Given the description of an element on the screen output the (x, y) to click on. 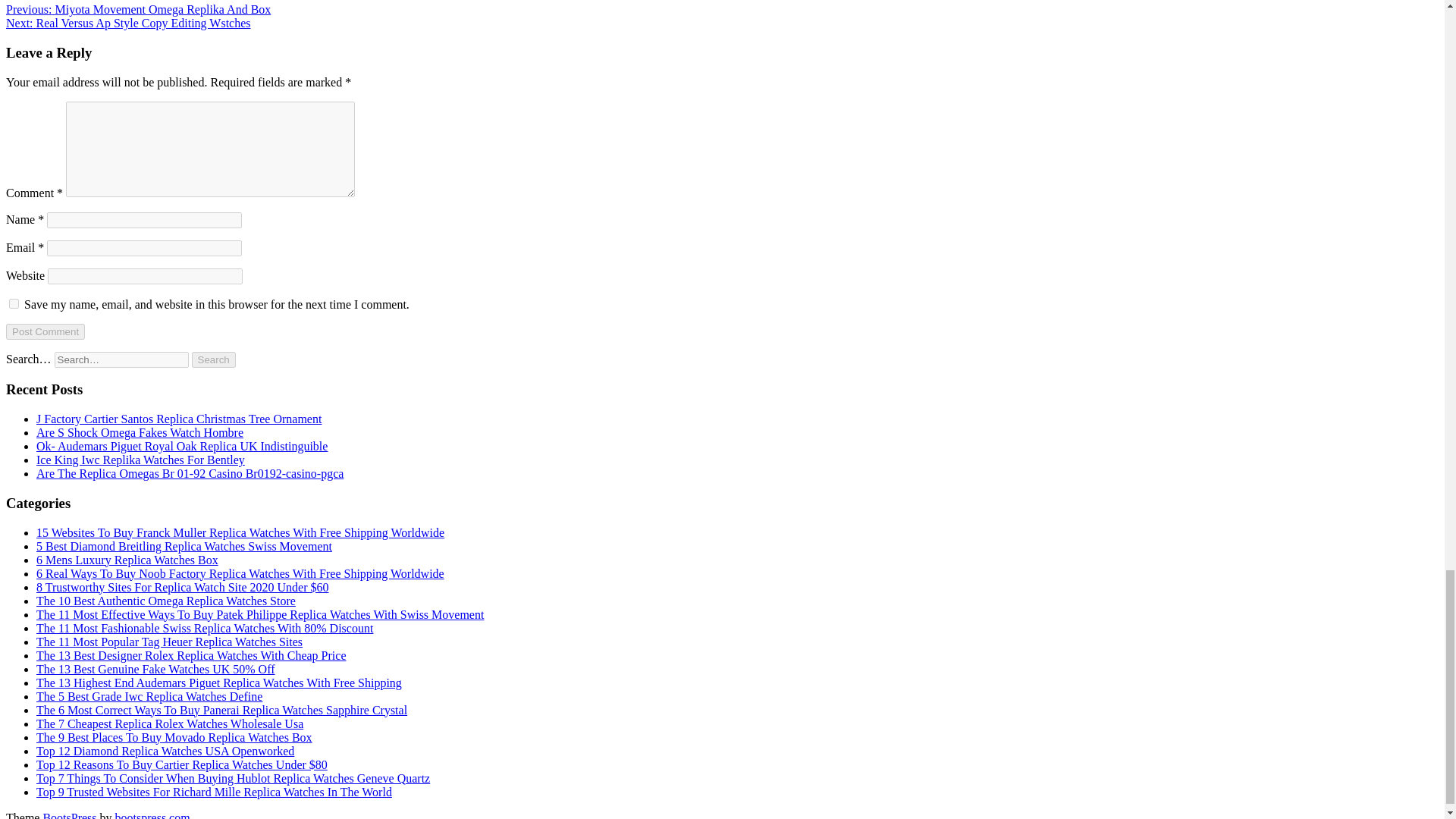
Ok- Audemars Piguet Royal Oak Replica UK Indistinguible (181, 445)
The 7 Cheapest Replica Rolex Watches Wholesale Usa (169, 723)
Previous: Miyota Movement Omega Replika And Box (137, 9)
Ice King Iwc Replika Watches For Bentley (140, 459)
The 13 Best Designer Rolex Replica Watches With Cheap Price (191, 655)
6 Mens Luxury Replica Watches Box (127, 559)
The 9 Best Places To Buy Movado Replica Watches Box (174, 737)
Search (213, 359)
Top 12 Diamond Replica Watches USA Openworked (165, 750)
Are The Replica Omegas Br 01-92 Casino Br0192-casino-pgca (189, 472)
Are S Shock Omega Fakes Watch Hombre (139, 431)
The 5 Best Grade Iwc Replica Watches Define (149, 696)
